Given the description of an element on the screen output the (x, y) to click on. 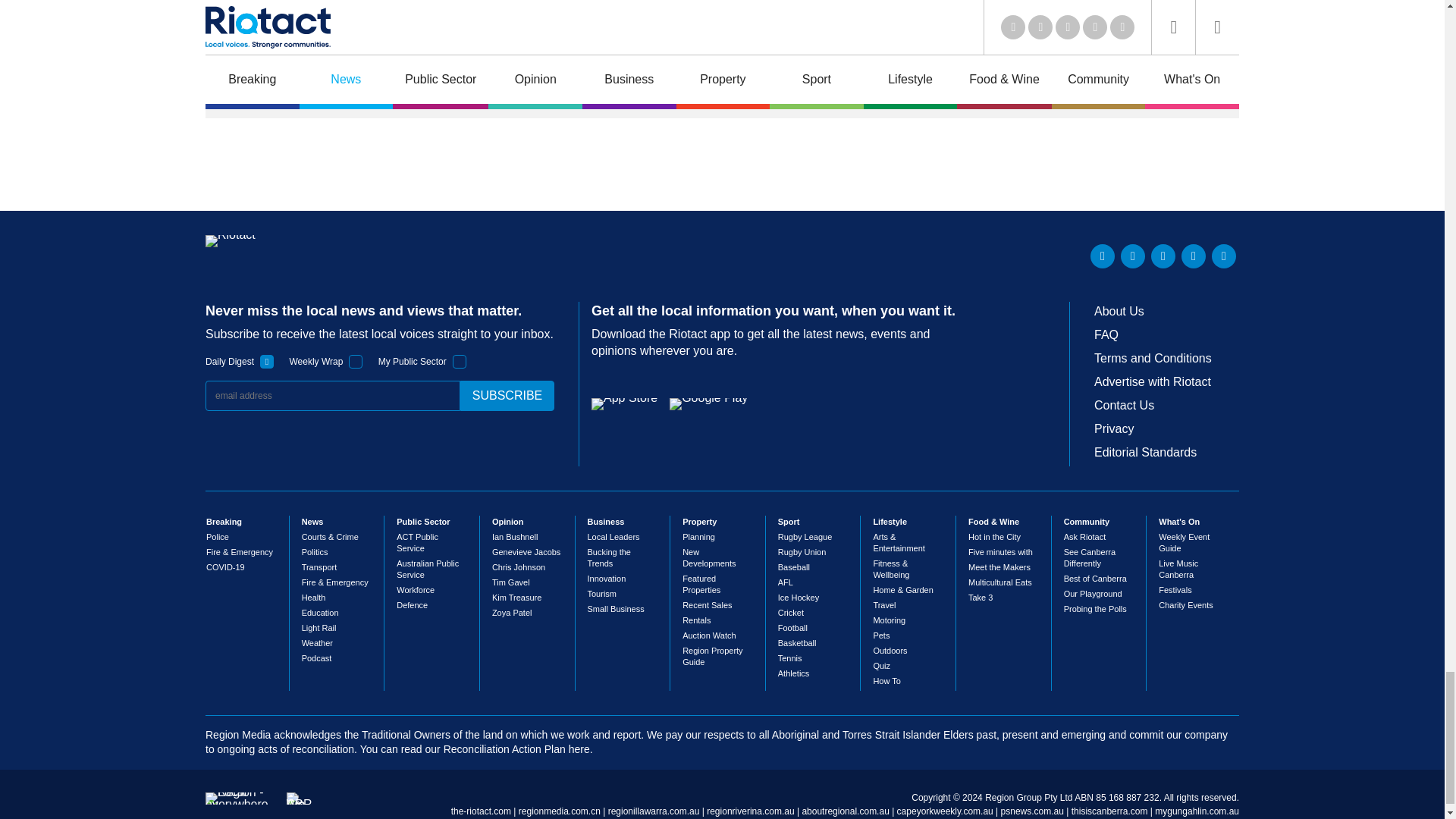
1 (266, 361)
subscribe (507, 395)
1 (355, 361)
Twitter (1132, 256)
LinkedIn (1102, 256)
1 (458, 361)
